Given the description of an element on the screen output the (x, y) to click on. 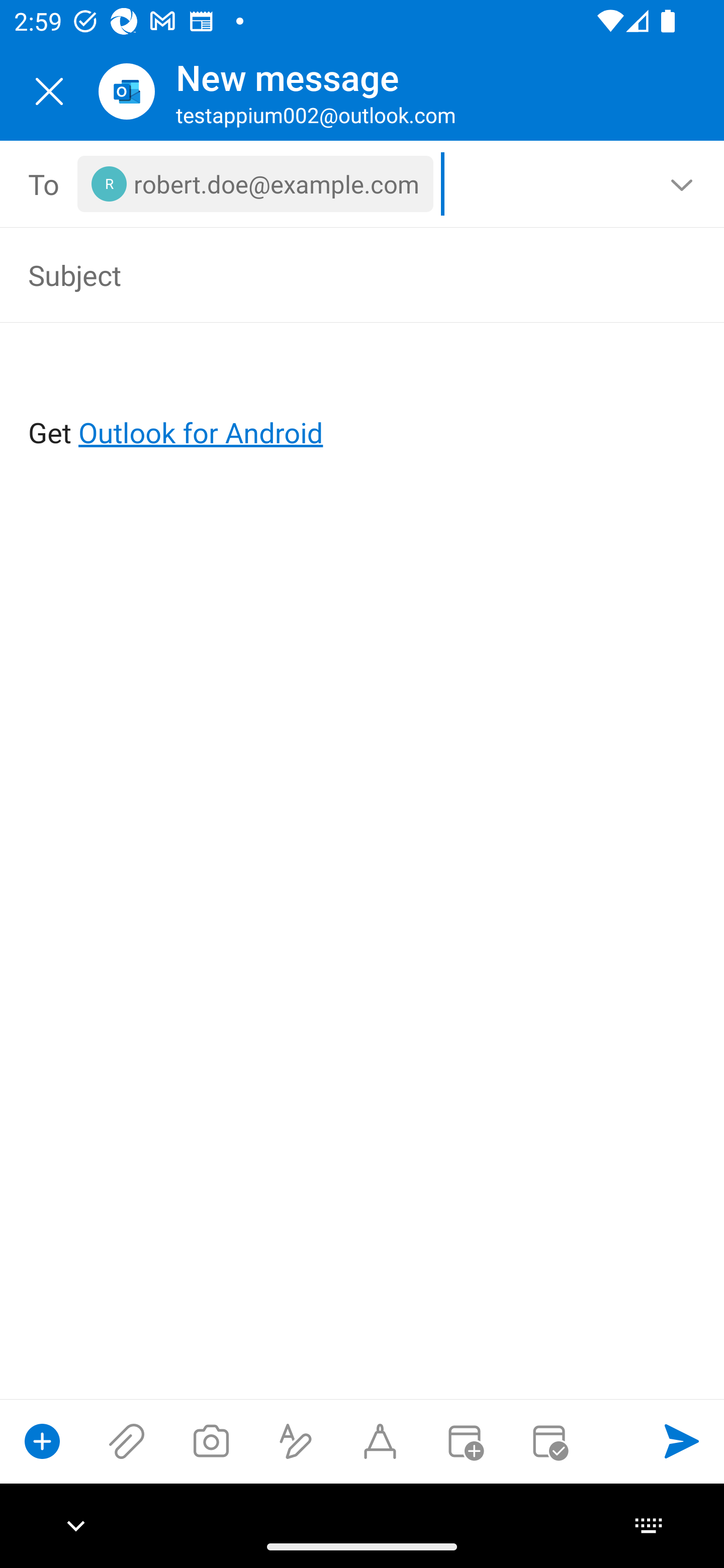
Close (49, 91)
To, 1 recipient <robert.doe@example.com> (362, 184)
Subject (333, 274)


Get Outlook for Android (363, 400)
Show compose options (42, 1440)
Attach files (126, 1440)
Take a photo (210, 1440)
Show formatting options (295, 1440)
Start Ink compose (380, 1440)
Convert to event (464, 1440)
Send availability (548, 1440)
Send (681, 1440)
